Given the description of an element on the screen output the (x, y) to click on. 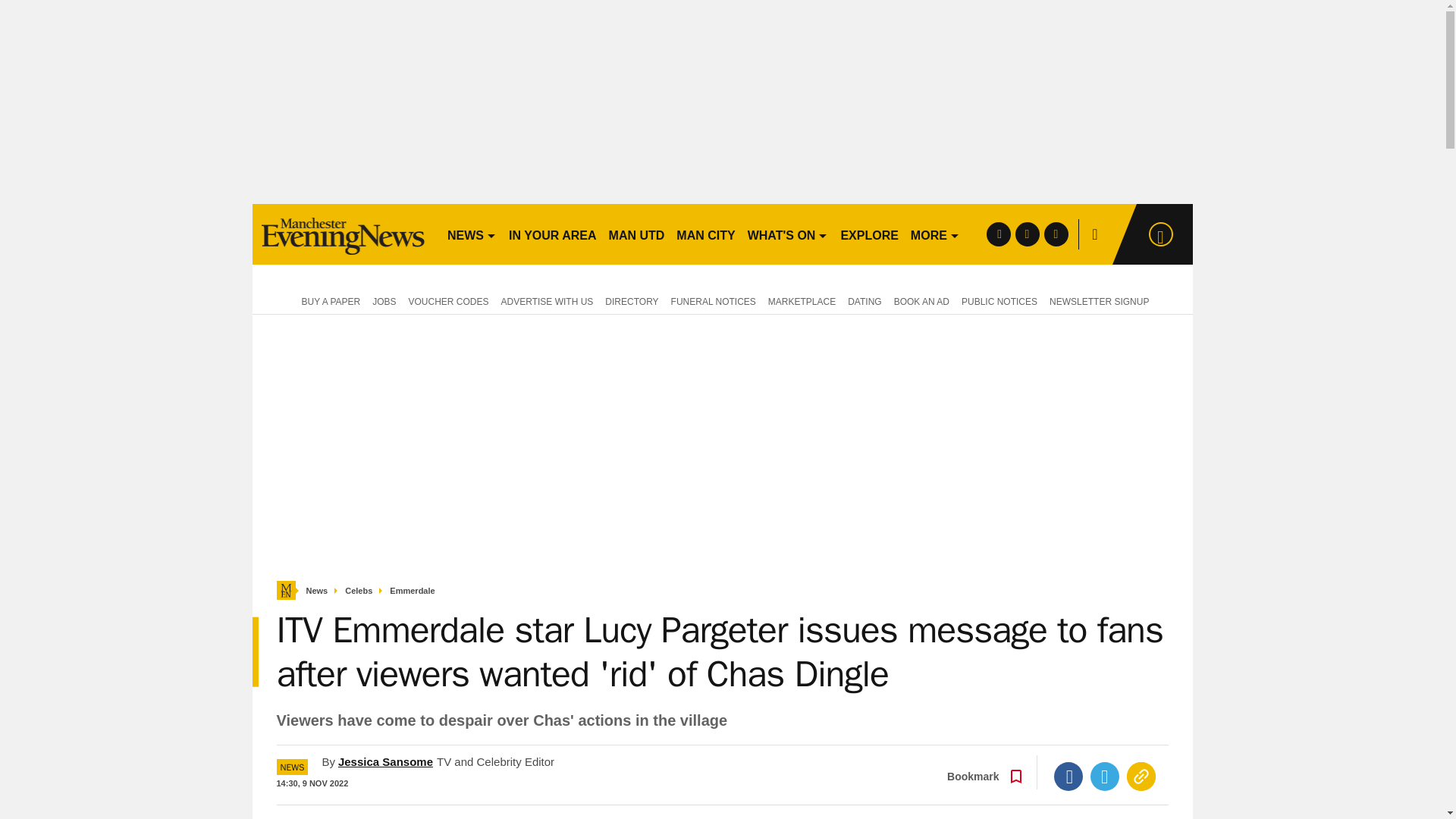
WHAT'S ON (787, 233)
NEWS (471, 233)
Twitter (1104, 776)
IN YOUR AREA (552, 233)
MAN CITY (705, 233)
instagram (1055, 233)
Facebook (1068, 776)
MAN UTD (636, 233)
facebook (997, 233)
twitter (1026, 233)
